Given the description of an element on the screen output the (x, y) to click on. 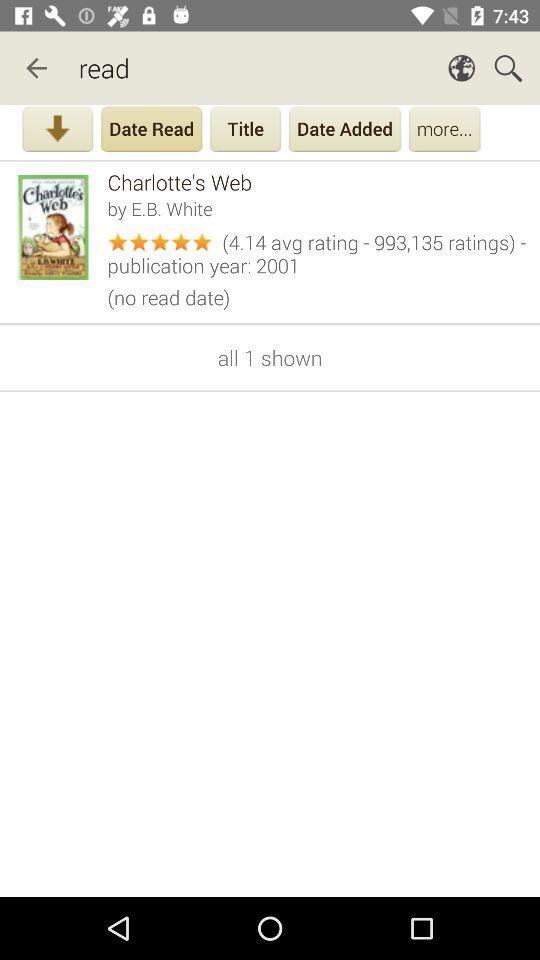
download button (57, 131)
